Given the description of an element on the screen output the (x, y) to click on. 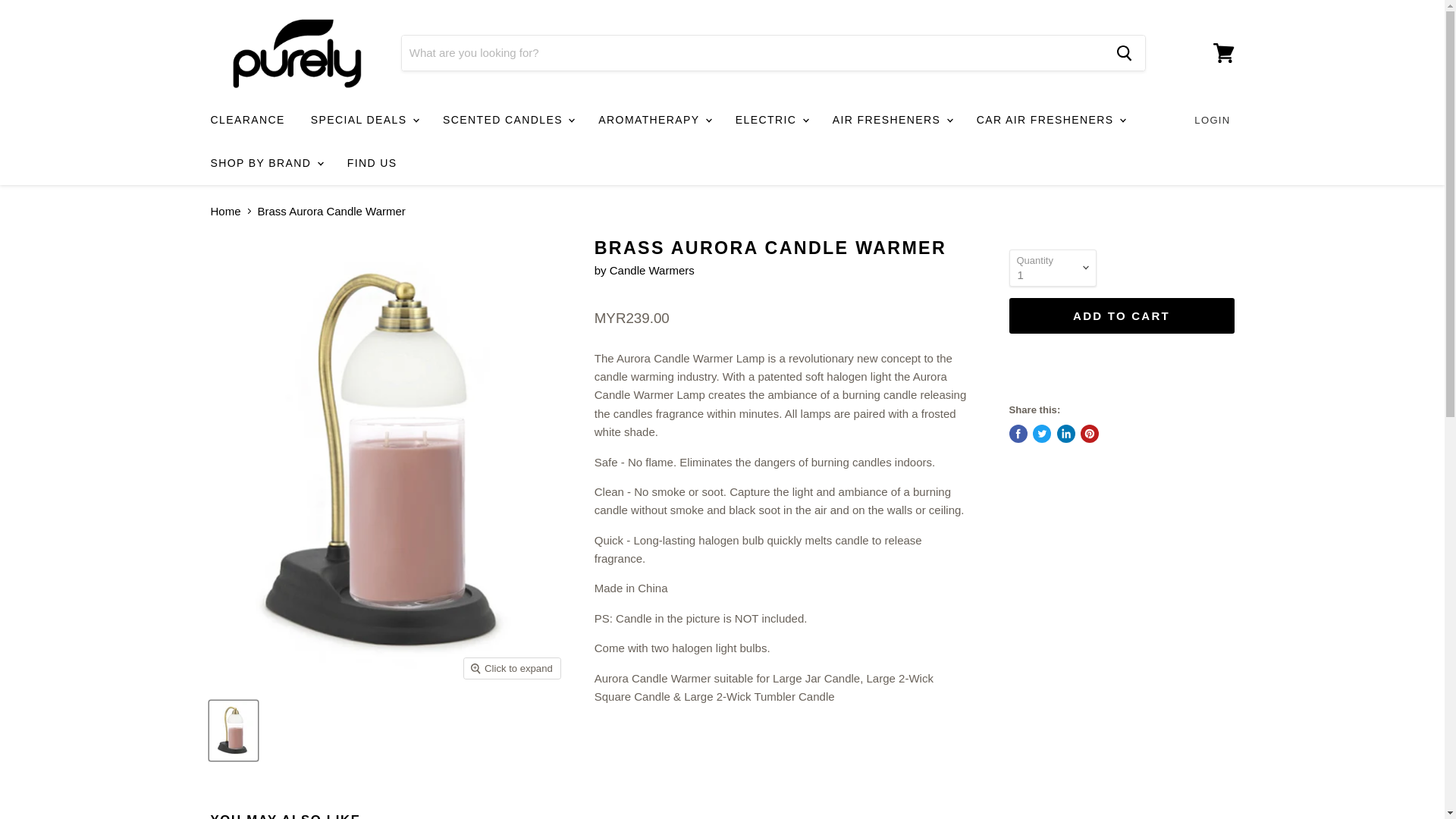
CLEARANCE (246, 119)
View cart (1223, 53)
ELECTRIC (770, 119)
AROMATHERAPY (653, 119)
SPECIAL DEALS (363, 119)
Candle Warmers (652, 269)
SCENTED CANDLES (506, 119)
